Given the description of an element on the screen output the (x, y) to click on. 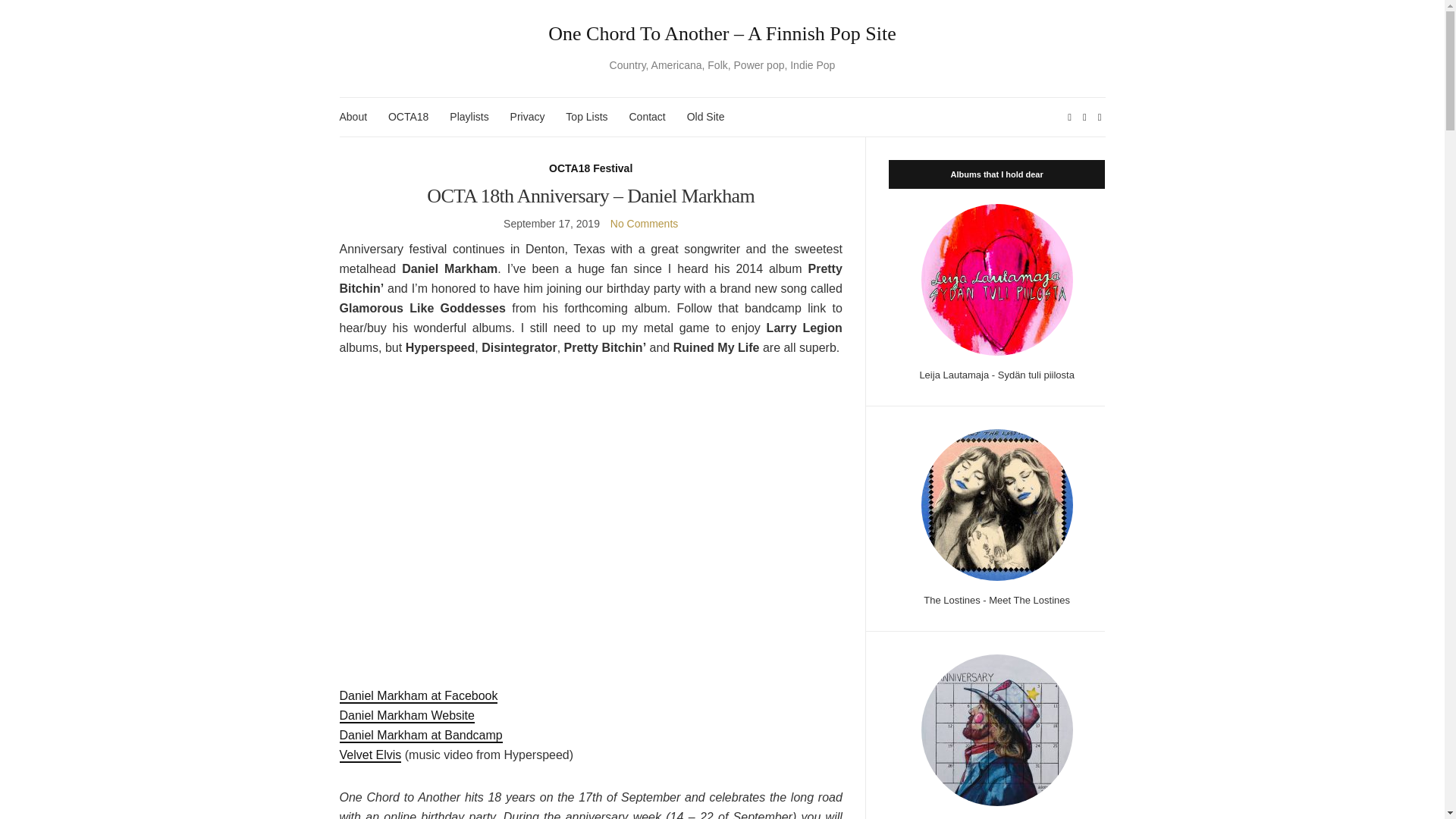
OCTA18 Festival (589, 168)
Old Site (706, 117)
Playlists (468, 117)
No Comments (644, 223)
Daniel Markham at Bandcamp (420, 735)
Privacy (527, 117)
Contact (646, 117)
Velvet Elvis (370, 755)
About (353, 117)
Top Lists (586, 117)
Daniel Markham Website (406, 716)
Daniel Markham at Facebook (418, 696)
OCTA18 (408, 117)
